Given the description of an element on the screen output the (x, y) to click on. 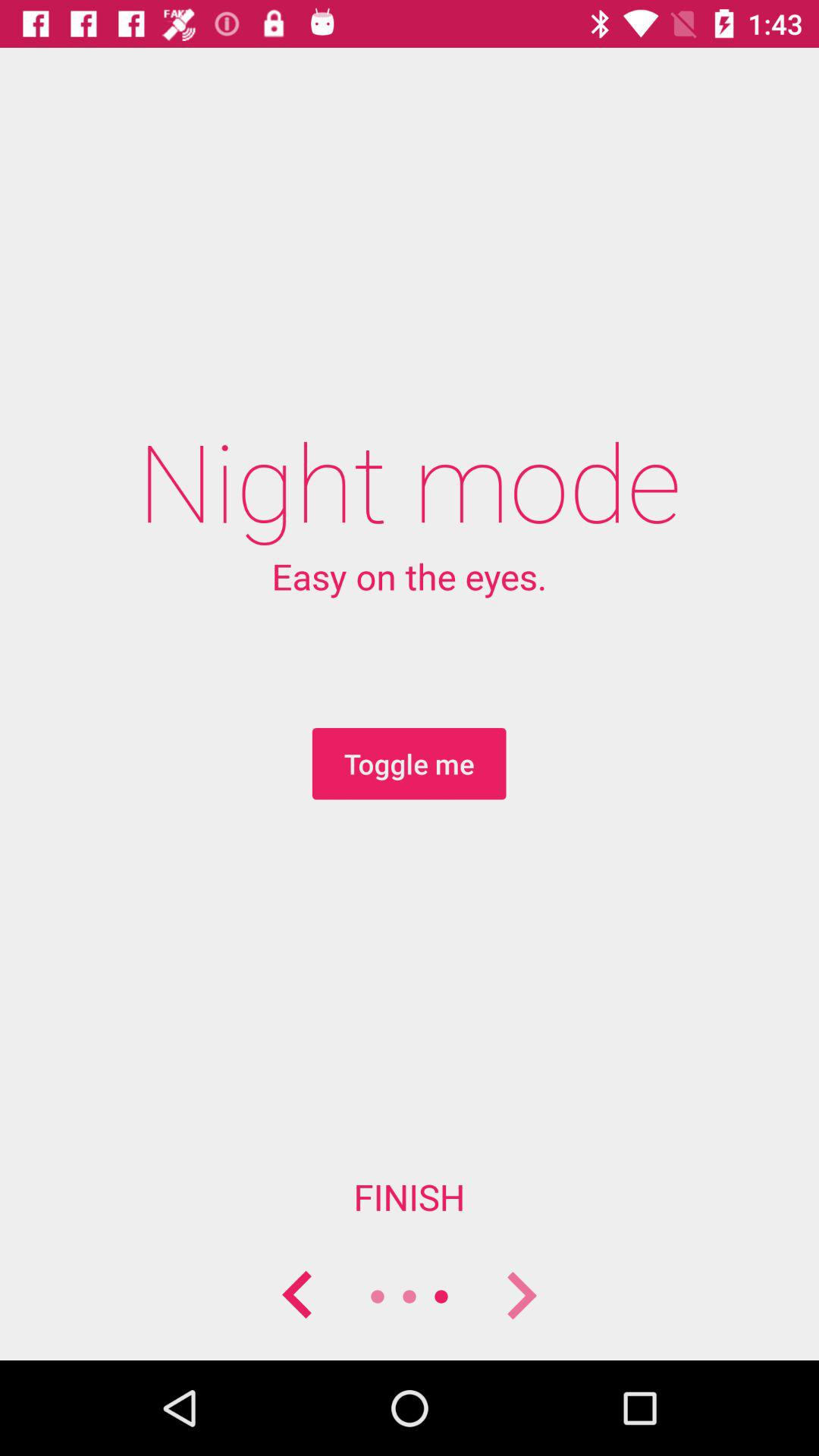
proceed to next (520, 1296)
